Given the description of an element on the screen output the (x, y) to click on. 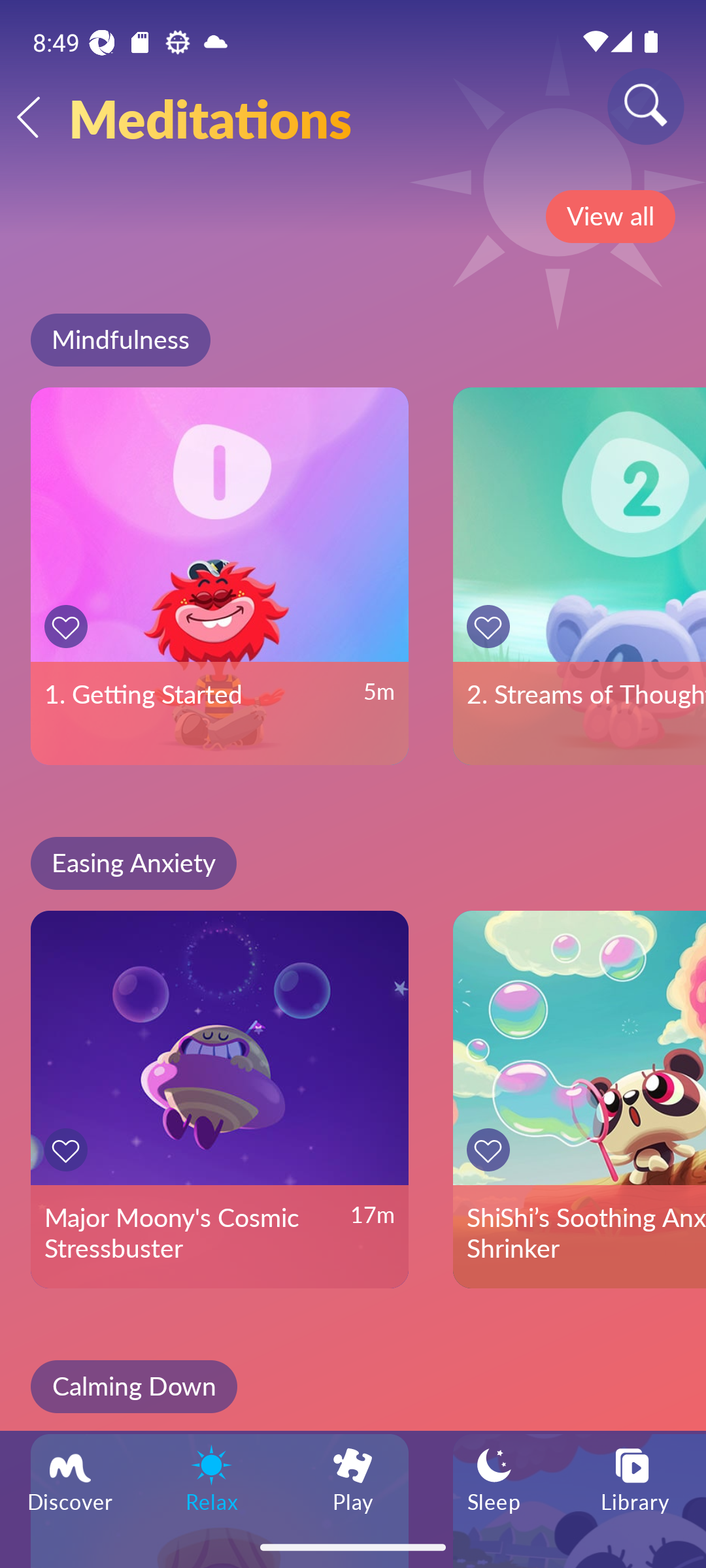
View all (609, 216)
Featured Content Button 1. Getting Started 5m (219, 576)
Featured Content Button 2. Streams of Thought (579, 576)
Button (69, 625)
Button (491, 625)
Button (69, 1149)
Button (491, 1149)
Discover (70, 1478)
Play (352, 1478)
Sleep (493, 1478)
Library (635, 1478)
